Given the description of an element on the screen output the (x, y) to click on. 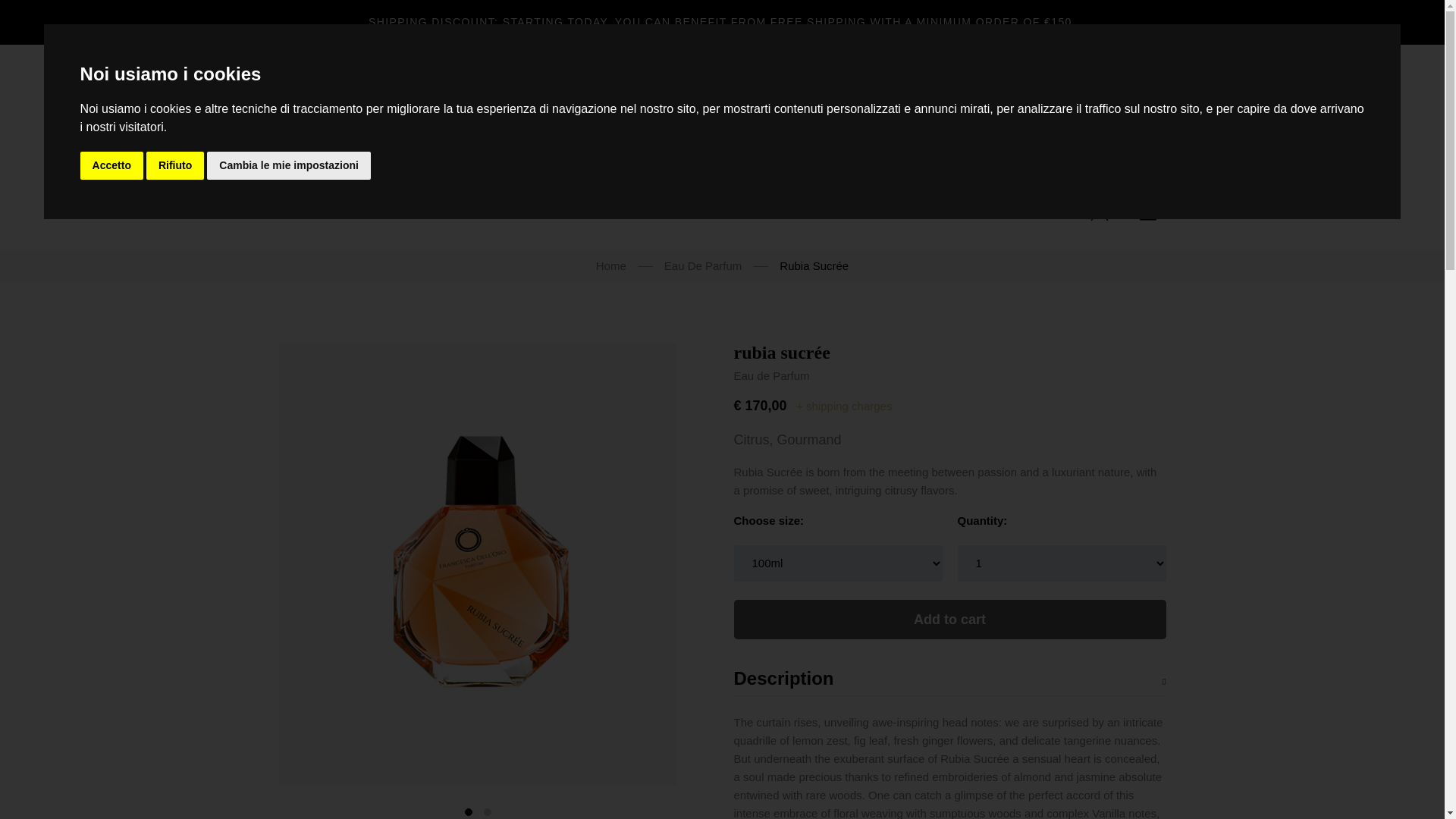
Discovery Set (461, 211)
Description (949, 682)
Accetto (111, 165)
Add to cart (949, 619)
Eau de Parfum (771, 376)
Rifiuto (175, 165)
Fragrances - Shop Online (598, 211)
Home (314, 211)
About (376, 211)
Cambia le mie impostazioni (288, 165)
Eau De Parfum (702, 266)
Layering (721, 211)
0 (1147, 212)
Home (610, 265)
Contacts (800, 211)
